Given the description of an element on the screen output the (x, y) to click on. 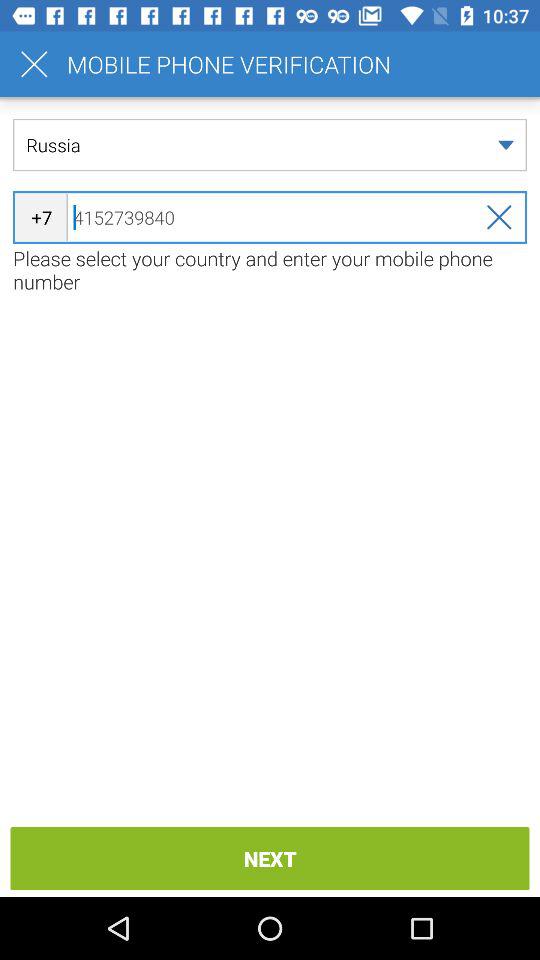
click 4152739840 item (269, 217)
